Given the description of an element on the screen output the (x, y) to click on. 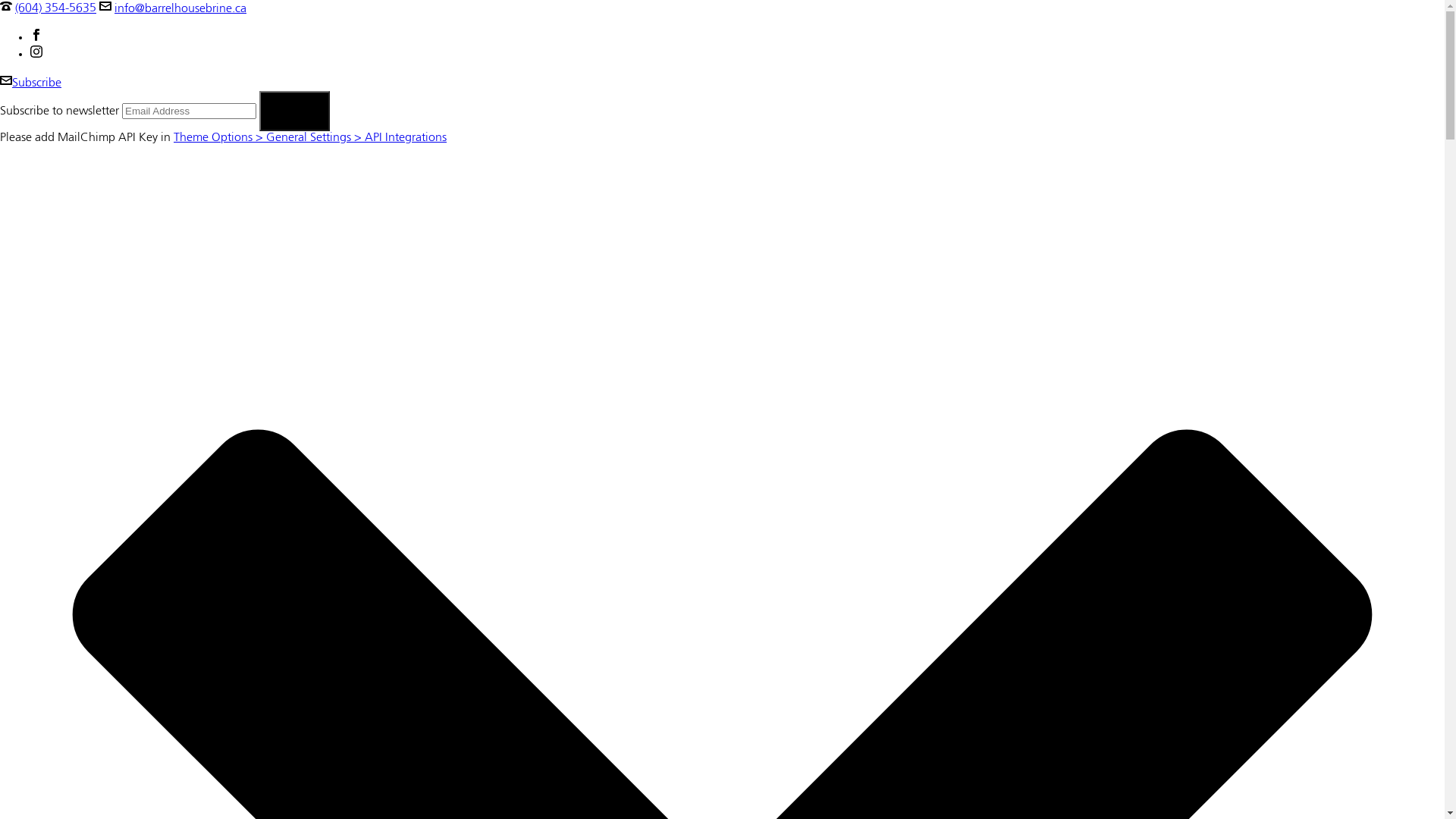
Subscribe Element type: text (294, 111)
Subscribe Element type: text (30, 83)
(604) 354-5635 Element type: text (55, 9)
info@barrelhousebrine.ca Element type: text (180, 9)
Theme Options > General Settings > API Integrations Element type: text (309, 137)
